Given the description of an element on the screen output the (x, y) to click on. 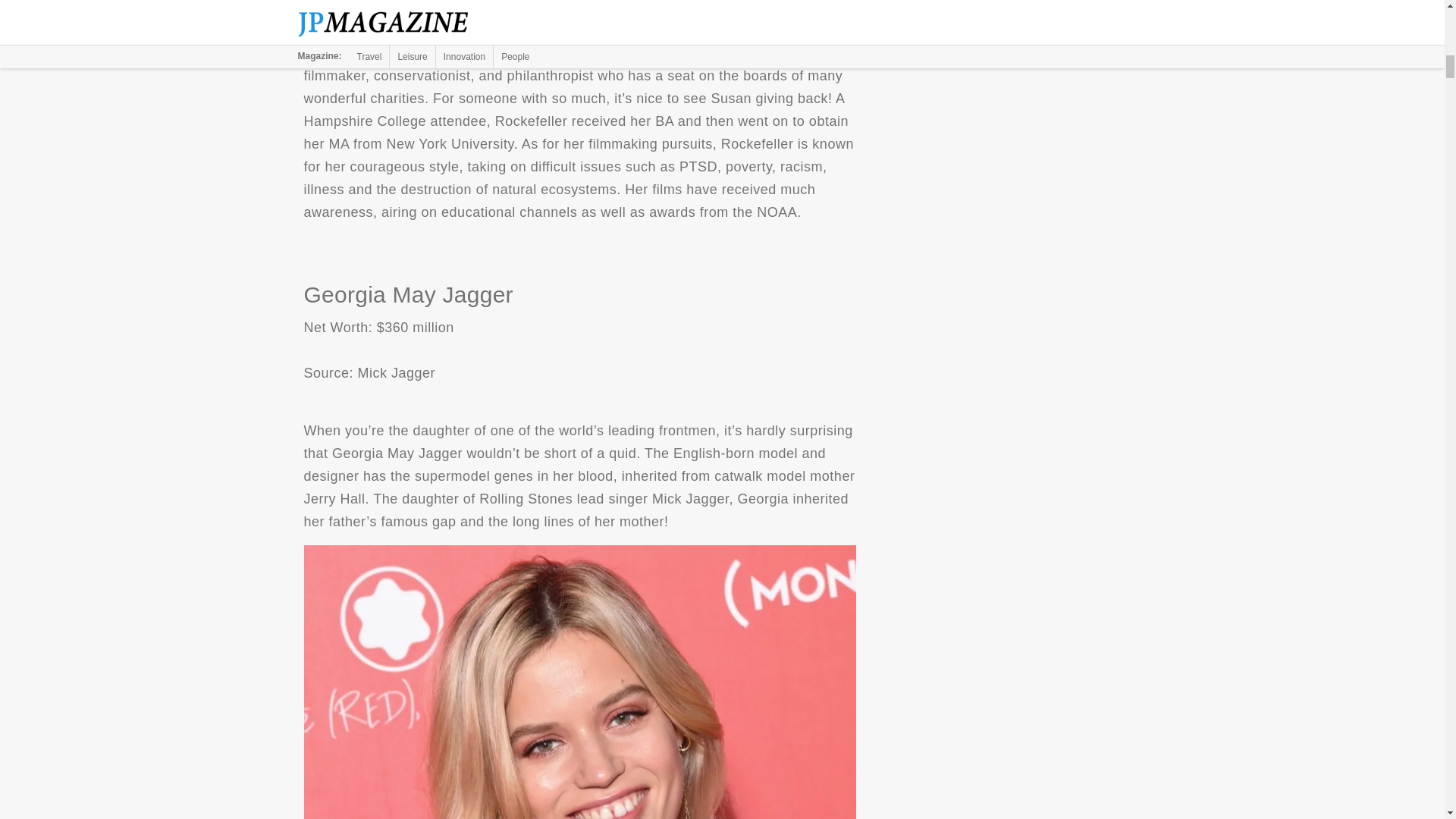
Susan Rockefeller (579, 7)
